Given the description of an element on the screen output the (x, y) to click on. 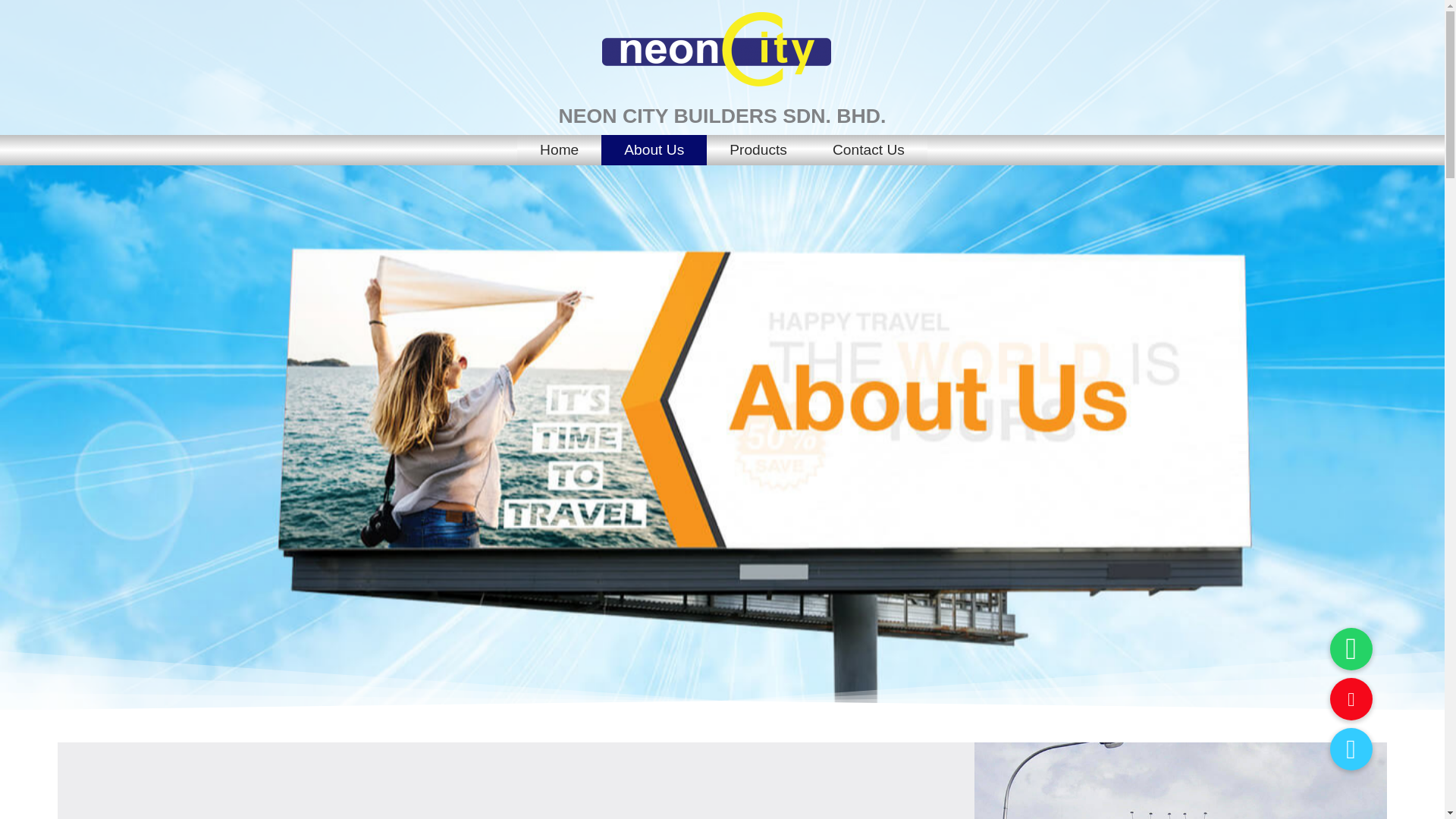
Contact Us (868, 150)
Products (757, 150)
About Us (653, 150)
Home (558, 150)
